Given the description of an element on the screen output the (x, y) to click on. 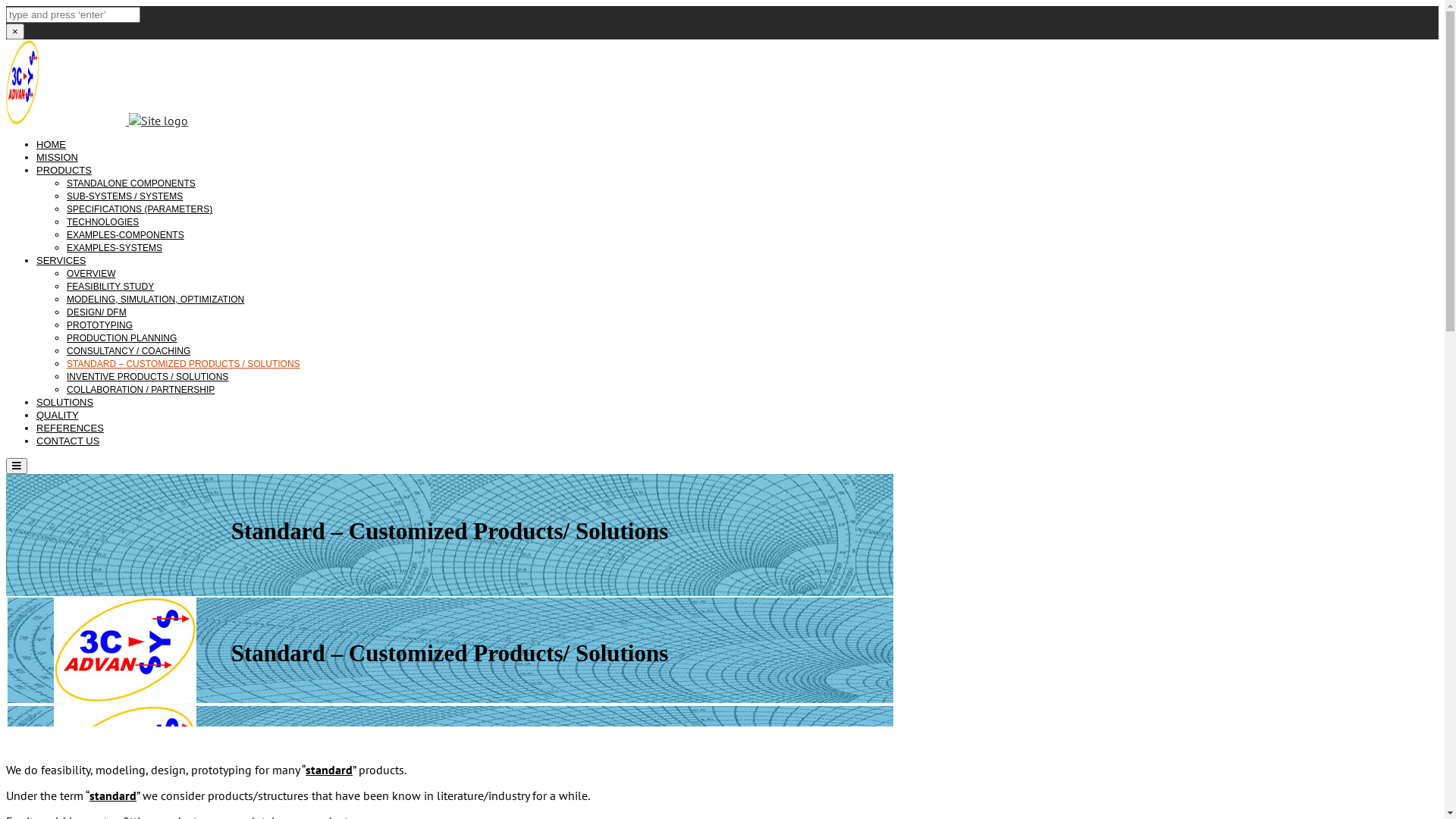
DESIGN/ DFM Element type: text (96, 312)
MISSION Element type: text (57, 157)
CONTACT US Element type: text (67, 440)
QUALITY Element type: text (57, 414)
SPECIFICATIONS (PARAMETERS) Element type: text (139, 208)
EXAMPLES-COMPONENTS Element type: text (125, 234)
REFERENCES Element type: text (69, 427)
SERVICES Element type: text (61, 260)
PROTOTYPING Element type: text (99, 325)
TECHNOLOGIES Element type: text (102, 221)
COLLABORATION / PARTNERSHIP Element type: text (140, 389)
PRODUCTION PLANNING Element type: text (121, 337)
OVERVIEW Element type: text (90, 273)
SOLUTIONS Element type: text (64, 401)
MODELING, SIMULATION, OPTIMIZATION Element type: text (155, 299)
HOME Element type: text (50, 144)
INVENTIVE PRODUCTS / SOLUTIONS Element type: text (147, 376)
Toggle navigation Element type: text (16, 465)
CONSULTANCY / COACHING Element type: text (128, 350)
STANDALONE COMPONENTS Element type: text (130, 183)
PRODUCTS Element type: text (63, 169)
EXAMPLES-SYSTEMS Element type: text (114, 247)
FEASIBILITY STUDY Element type: text (109, 286)
SUB-SYSTEMS / SYSTEMS Element type: text (124, 196)
